Given the description of an element on the screen output the (x, y) to click on. 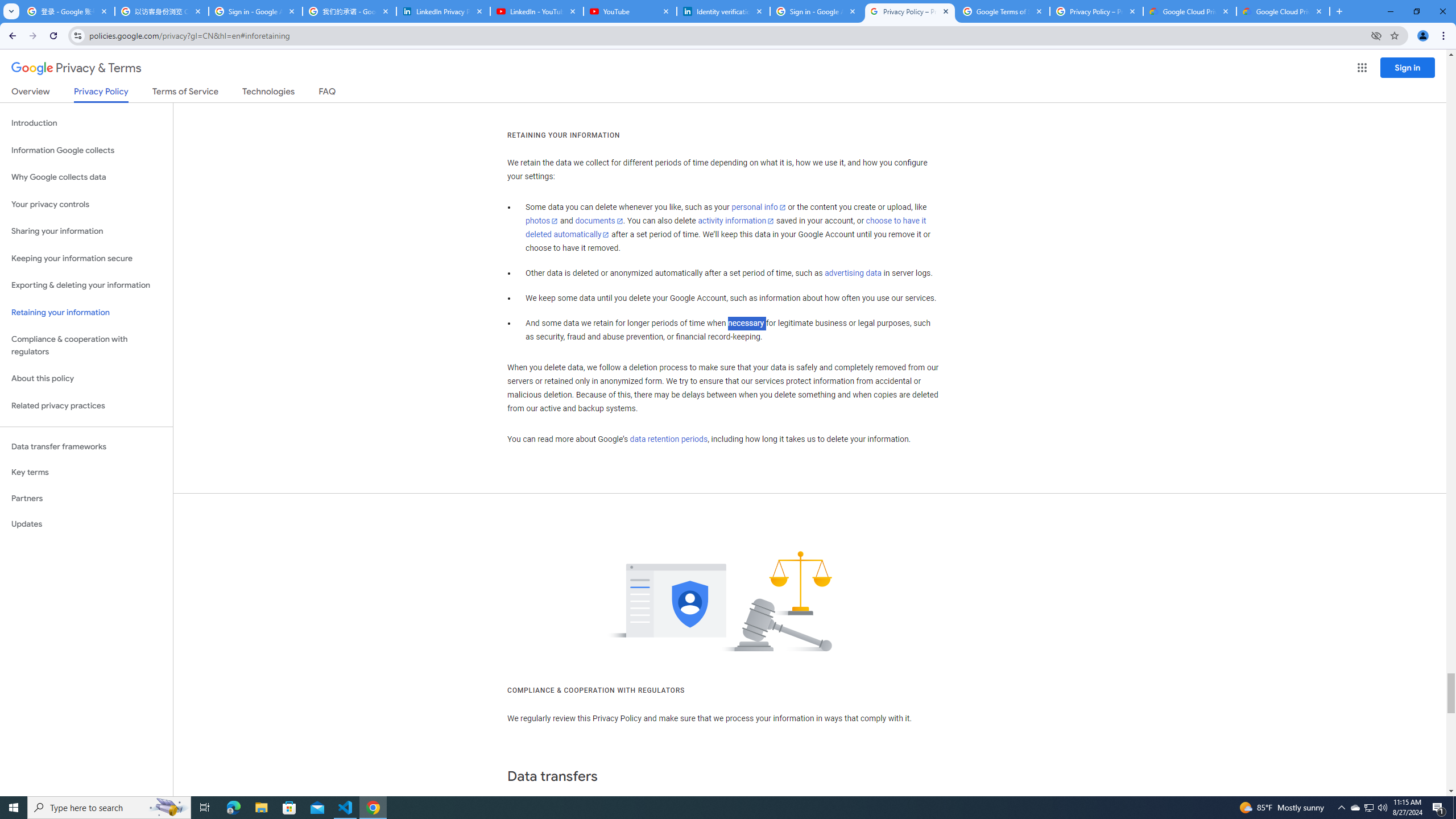
Retaining your information (86, 312)
Sharing your information (86, 230)
LinkedIn - YouTube (536, 11)
About this policy (86, 379)
Compliance & cooperation with regulators (86, 345)
Sign in - Google Accounts (815, 11)
